Given the description of an element on the screen output the (x, y) to click on. 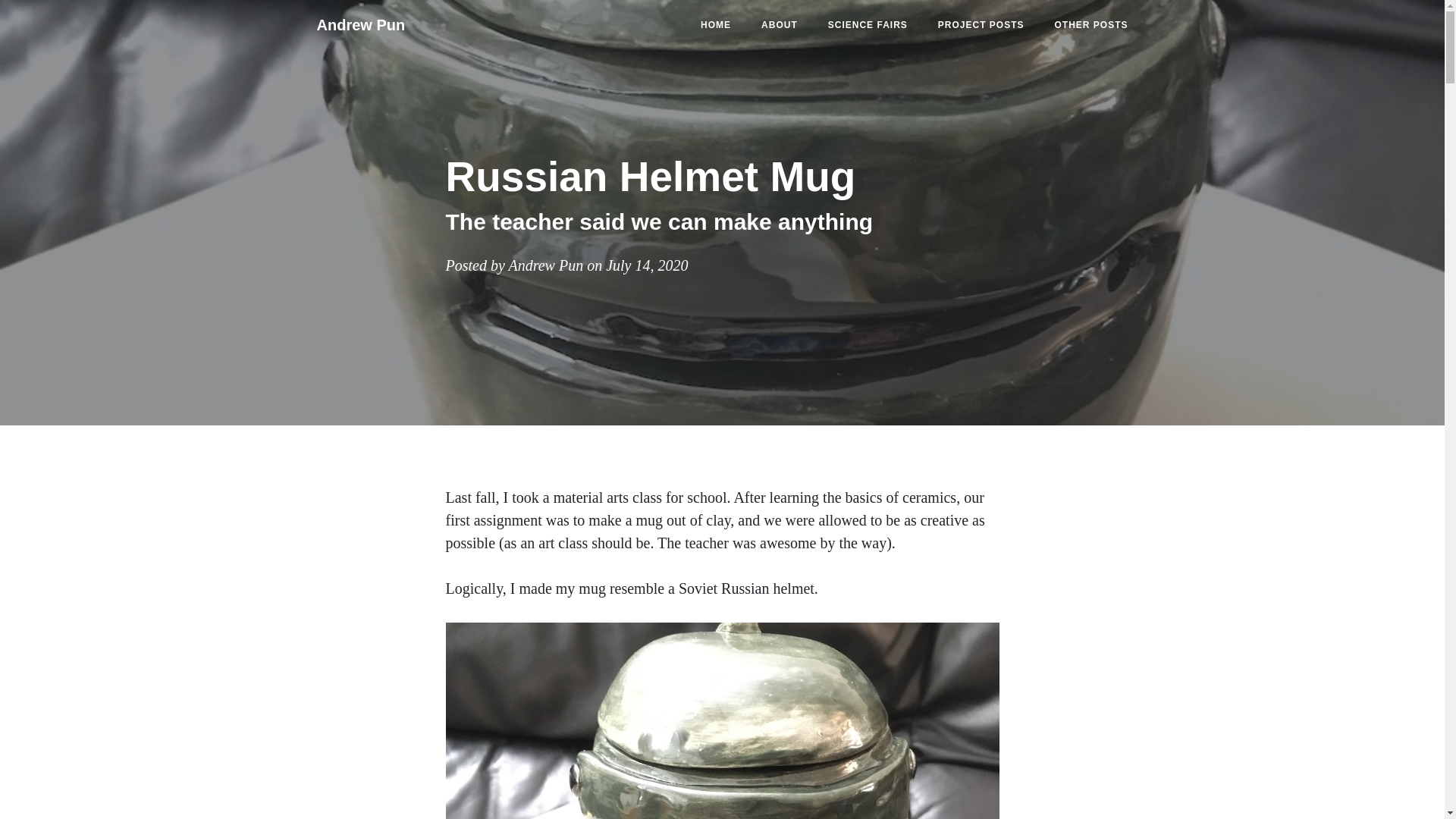
ABOUT (778, 24)
Andrew Pun (545, 265)
SCIENCE FAIRS (867, 24)
PROJECT POSTS (981, 24)
OTHER POSTS (1090, 24)
HOME (715, 24)
Andrew Pun (360, 24)
